Given the description of an element on the screen output the (x, y) to click on. 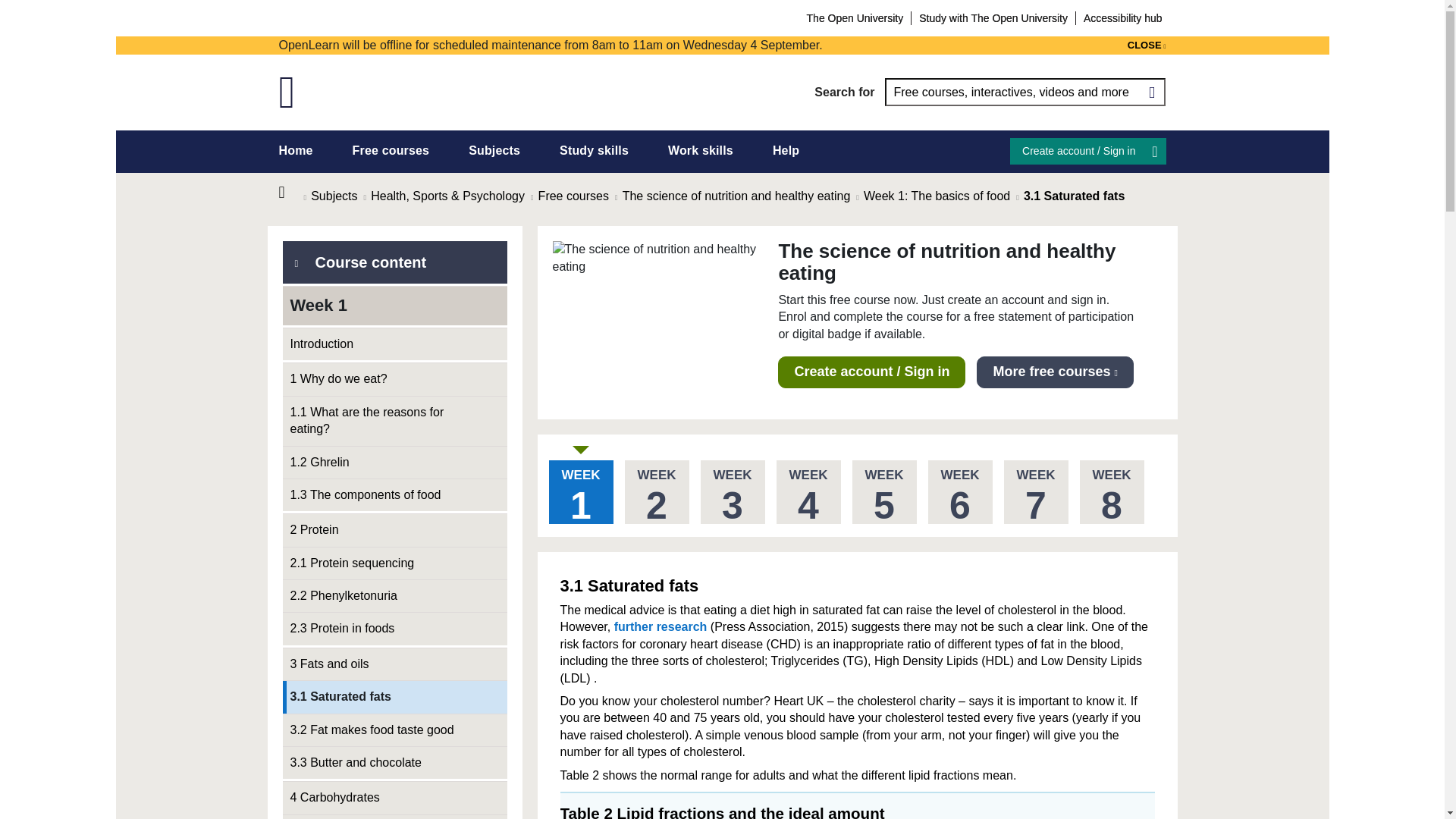
Study with The Open University (993, 17)
Subjects (493, 150)
Accessibility hub (1123, 17)
Work skills (700, 150)
CLOSE (1146, 45)
Free courses (390, 150)
Home (291, 193)
Study skills (593, 150)
Help (786, 150)
Home (296, 150)
